Given the description of an element on the screen output the (x, y) to click on. 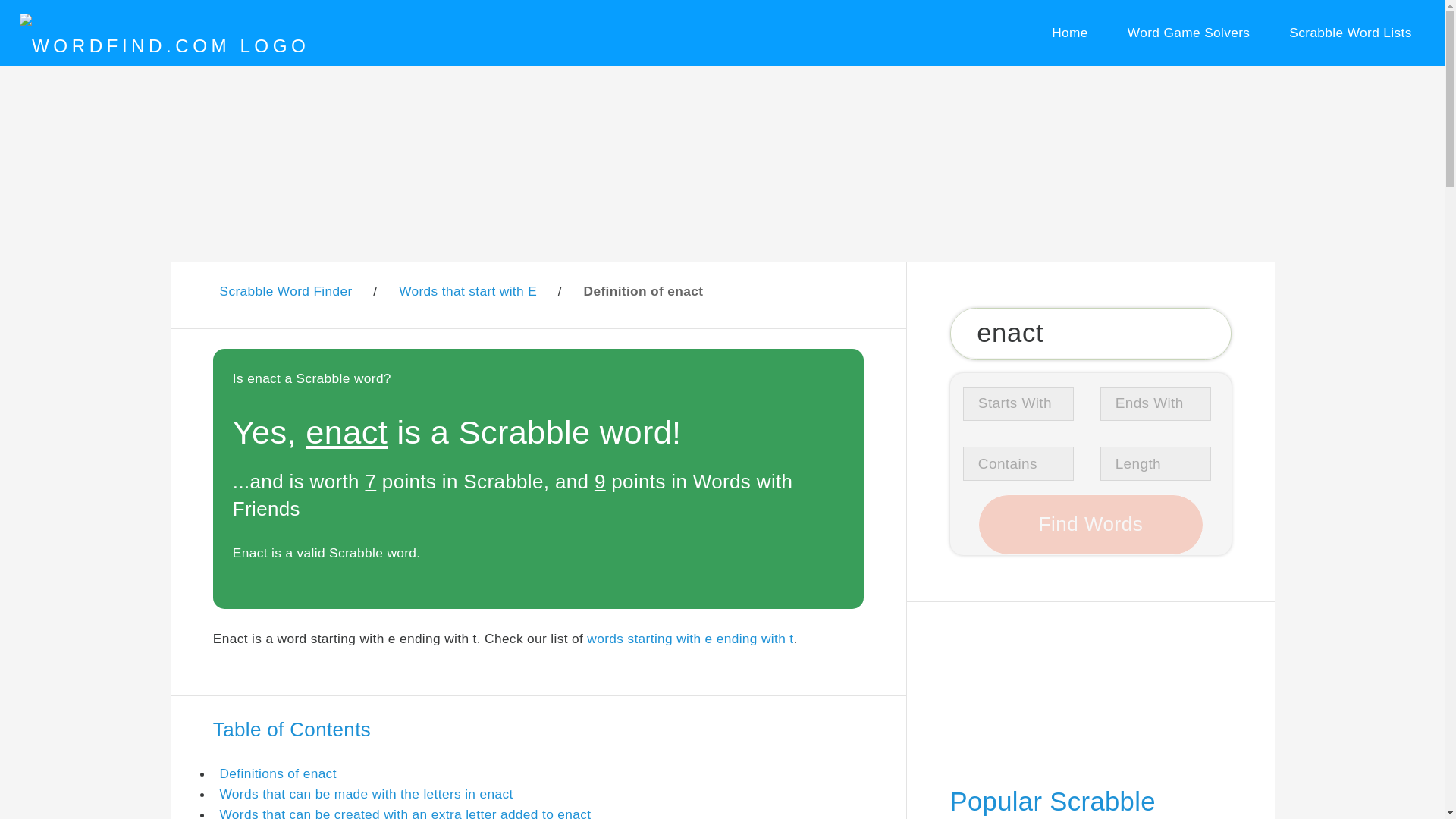
Scrabble Word Lists (1350, 33)
Scrabble Word Lists menu (1350, 33)
words starting with e ending with t (689, 638)
Word Game Solvers (1187, 33)
enact (1090, 333)
Words that can be made with the letters in enact (365, 793)
Definitions of enact (277, 773)
wordfind.com logo (164, 46)
Words that start with E (467, 290)
Return Home to Wordfind.com (164, 46)
Find Words (1091, 525)
Home (1069, 33)
Scrabble Word Finder (285, 290)
Word Game Solvers menu (1187, 33)
